Given the description of an element on the screen output the (x, y) to click on. 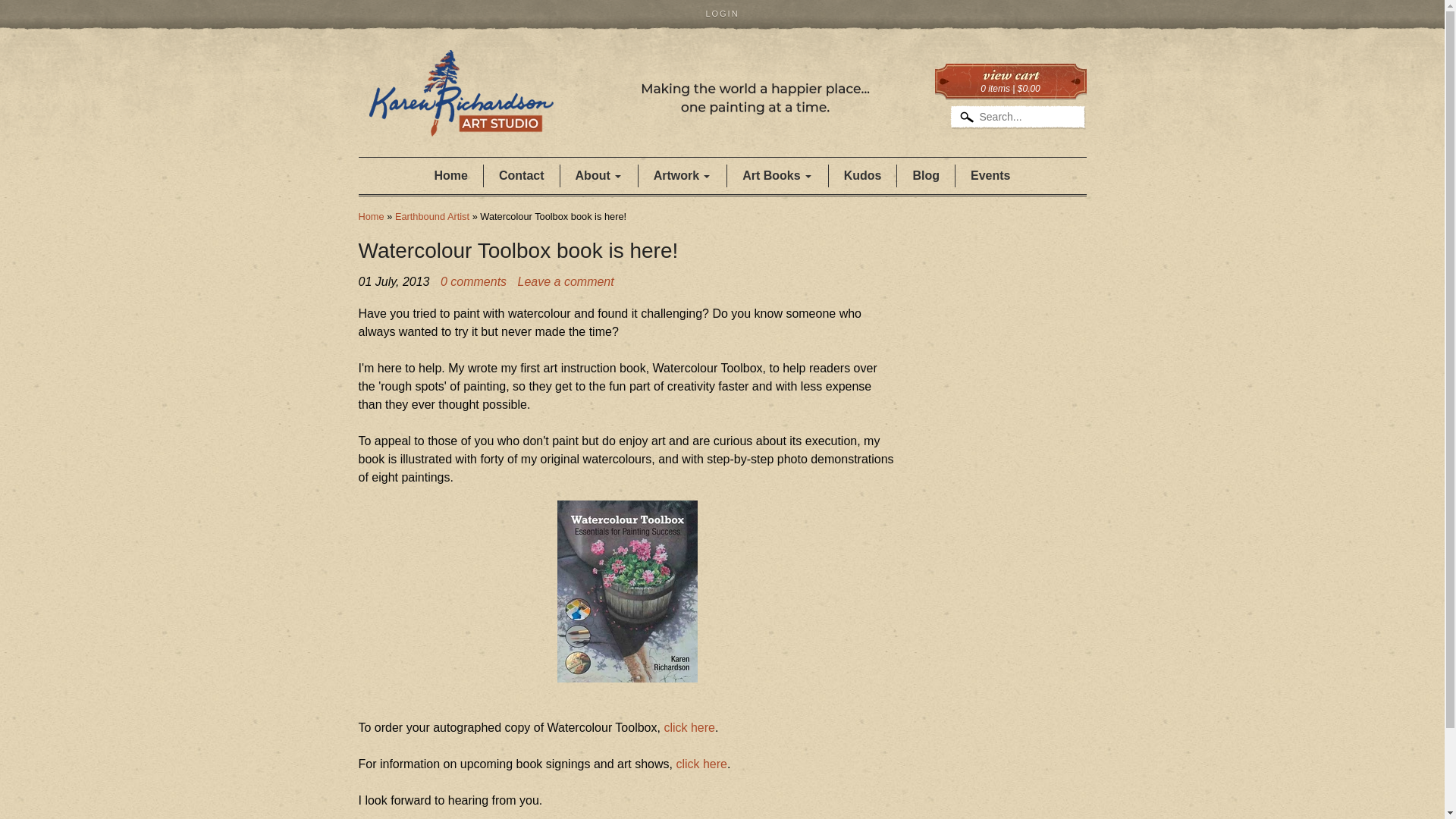
click here (700, 763)
click here (688, 727)
LOGIN (722, 13)
Earthbound Artist (431, 215)
Events (990, 175)
Home (371, 215)
Leave a comment (566, 281)
Home (623, 113)
0 comments (473, 281)
About (598, 175)
